Given the description of an element on the screen output the (x, y) to click on. 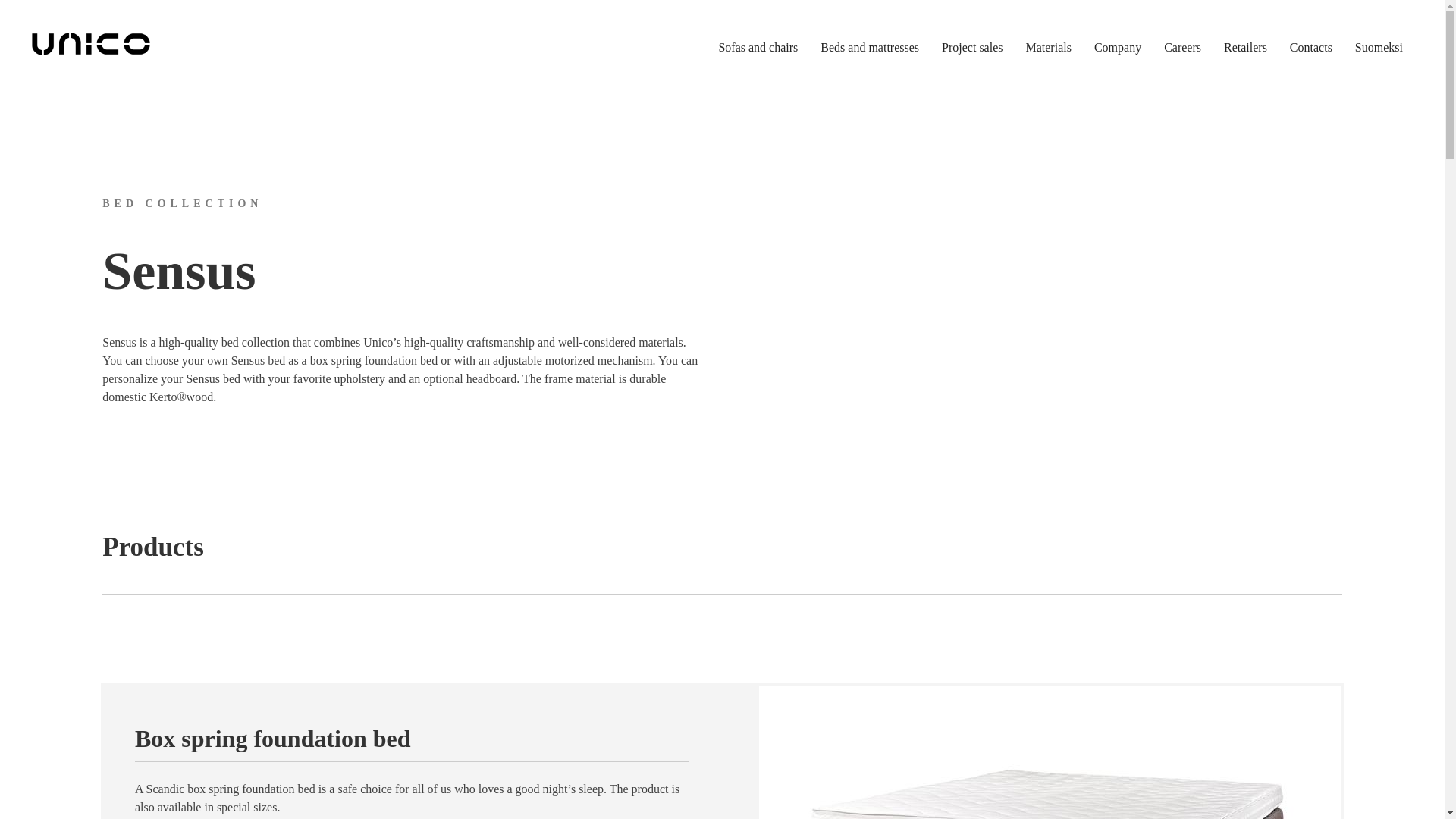
Project sales (972, 47)
Materials (1047, 47)
Careers (1182, 47)
Unico-sensus-RS-768x569 (1049, 752)
Company (1117, 47)
Unico-logo-black-RGB (90, 43)
Sofas and chairs (757, 47)
Suomeksi (1379, 47)
BED COLLECTION (181, 203)
Contacts (1310, 47)
Beds and mattresses (869, 47)
Retailers (1245, 47)
